Given the description of an element on the screen output the (x, y) to click on. 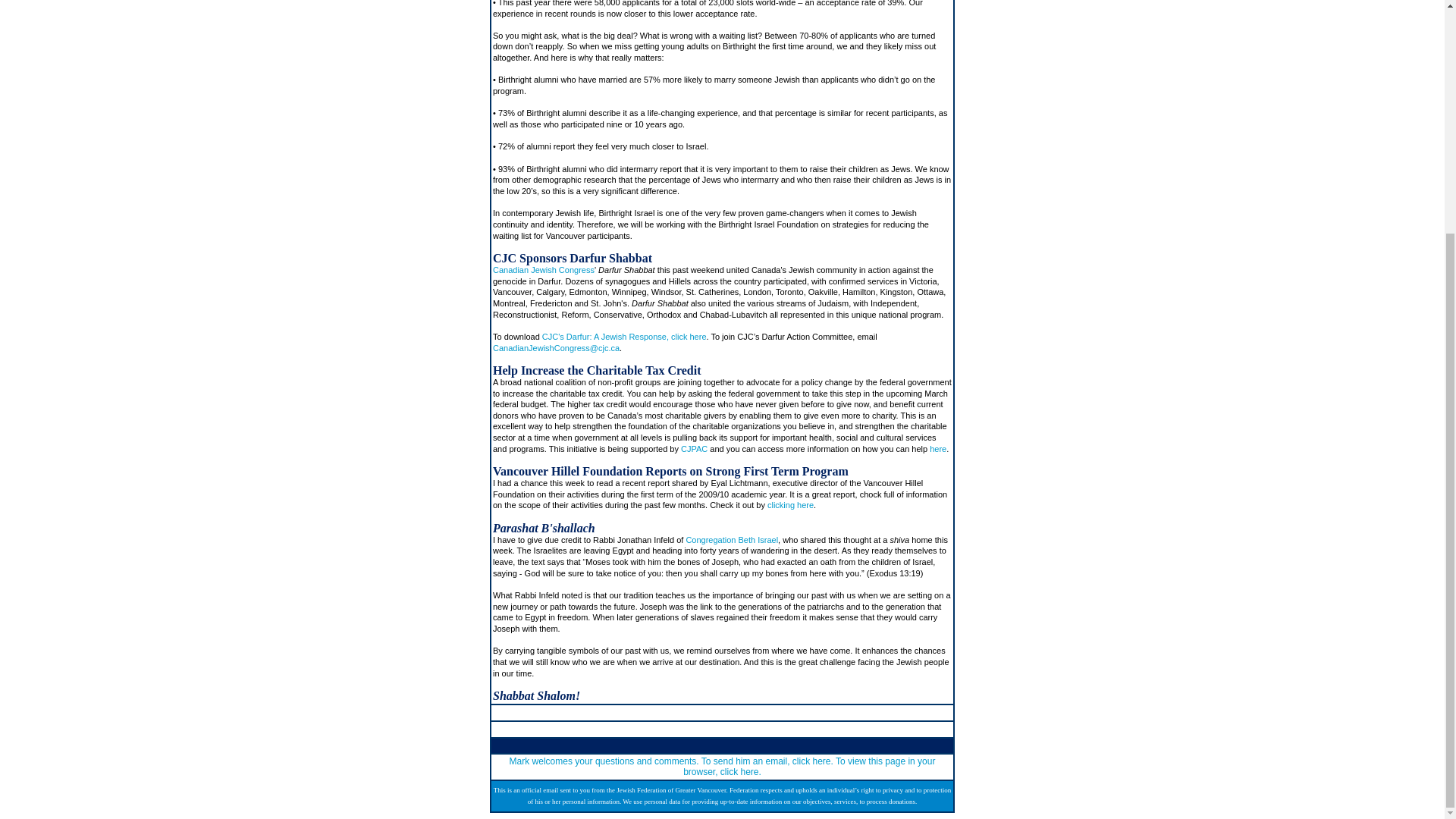
CJC's Darfur: A Jewish Response, click here (623, 336)
Congregation Beth Israel (731, 539)
here (938, 448)
To view this page in your browser, click here. (808, 766)
clicking here (790, 504)
Canadian Jewish Congress (543, 269)
CJPAC (694, 448)
